Given the description of an element on the screen output the (x, y) to click on. 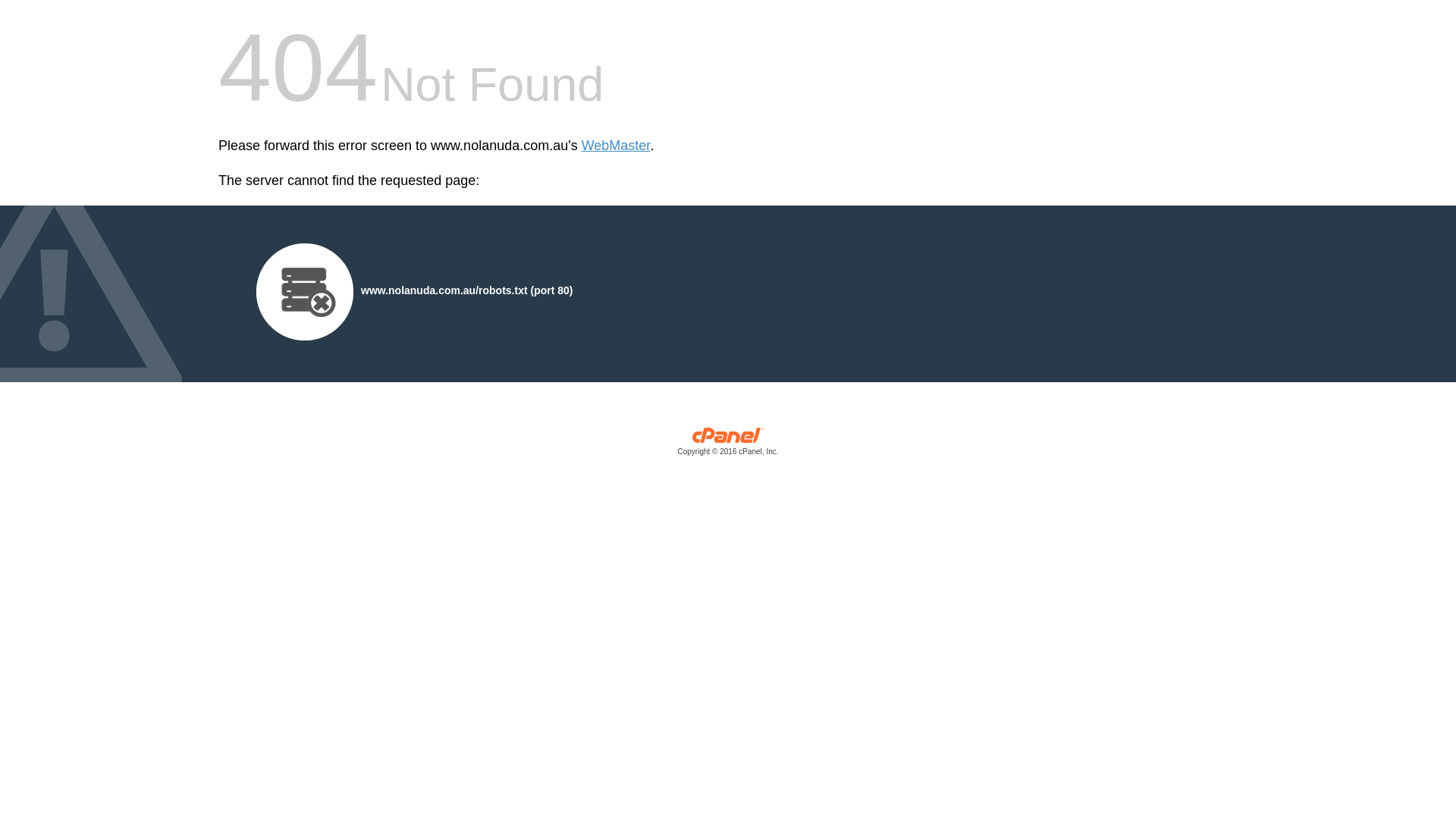
WebMaster Element type: text (615, 145)
